Given the description of an element on the screen output the (x, y) to click on. 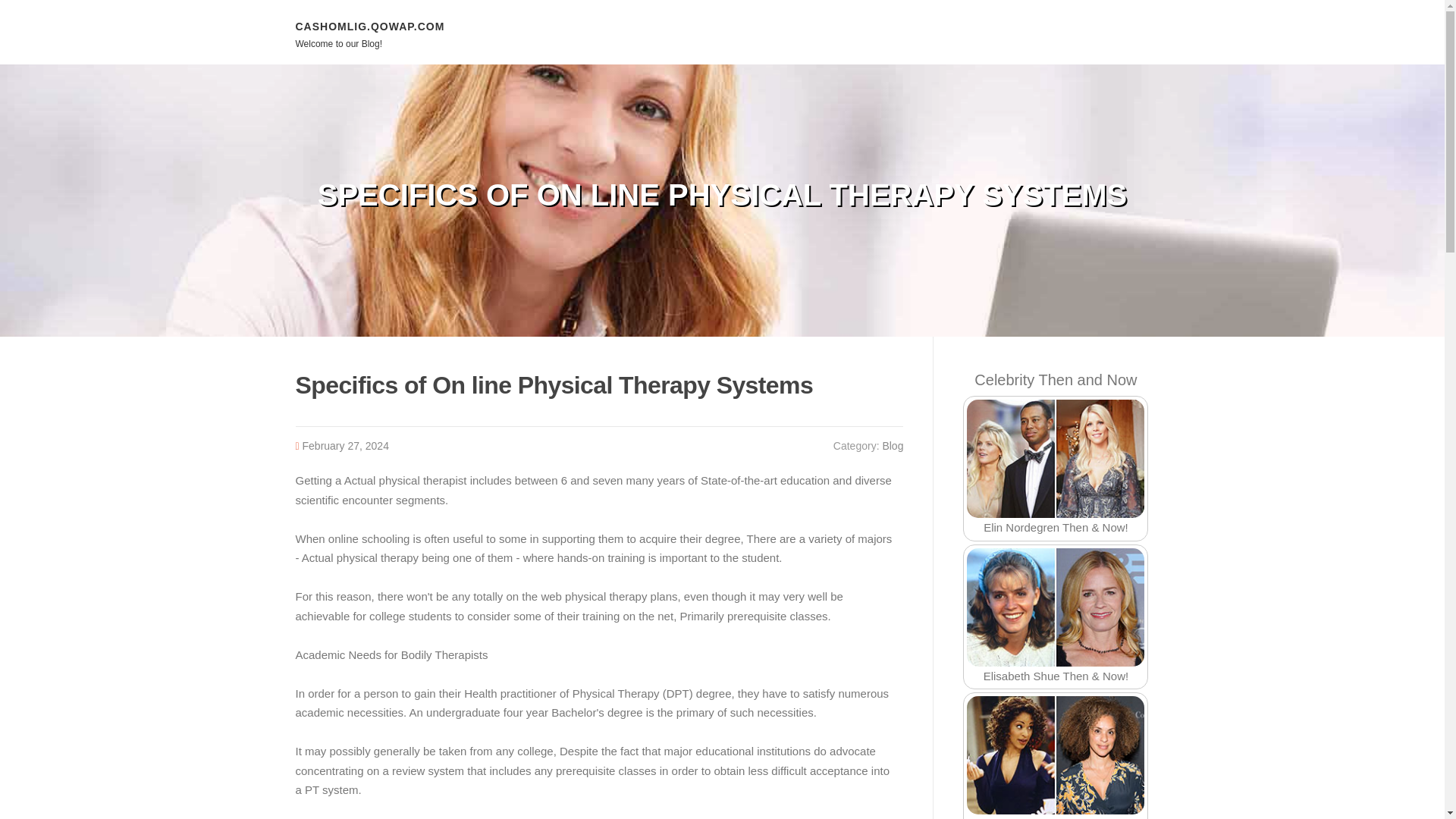
CASHOMLIG.QOWAP.COM (370, 25)
February 27, 2024 (345, 445)
Blog (892, 445)
Skip to content (37, 9)
